Given the description of an element on the screen output the (x, y) to click on. 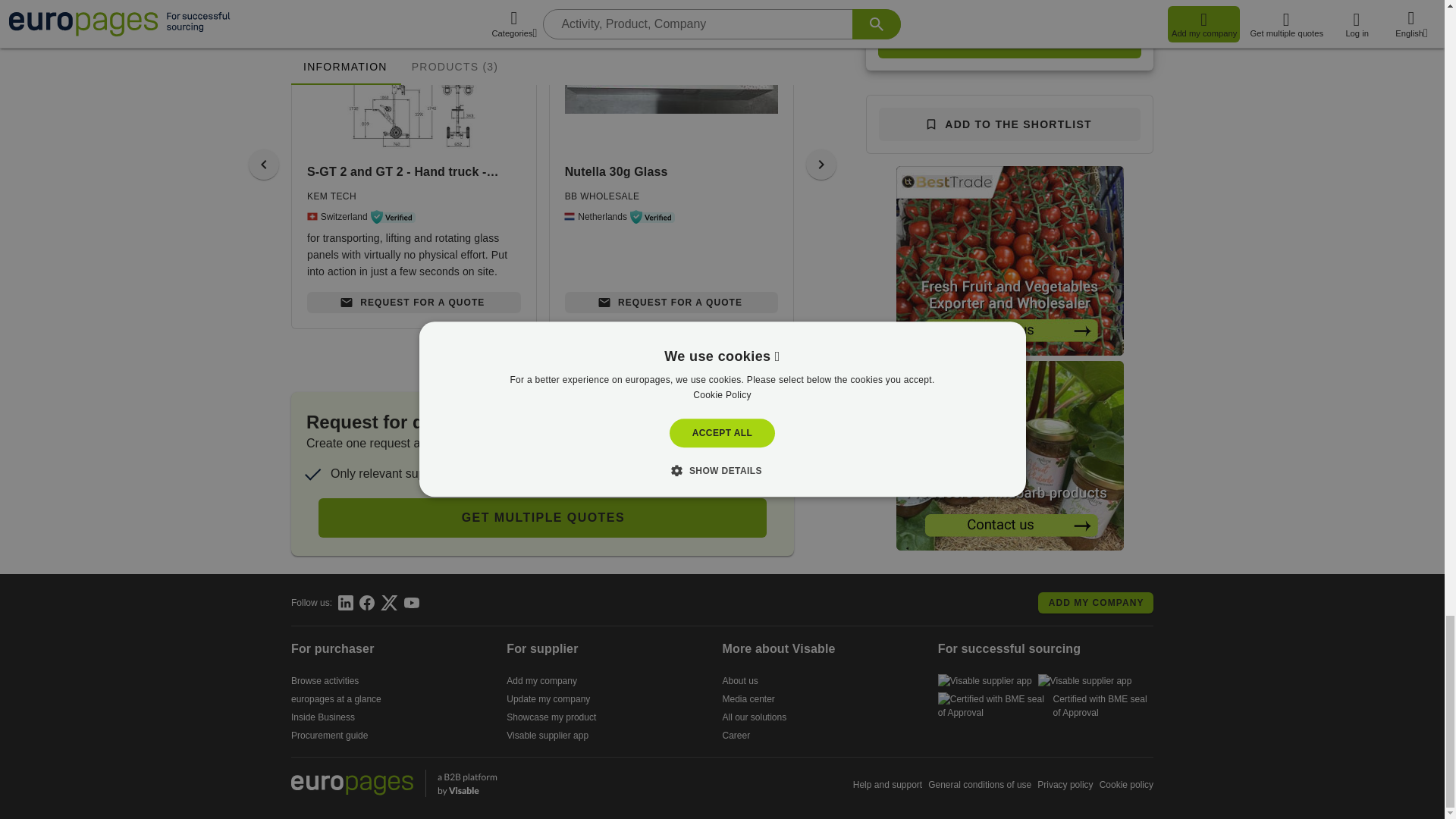
Inside Business (323, 716)
Add my company (541, 680)
All our solutions (754, 716)
europages at a glance (336, 698)
Twitter - europages (388, 602)
Linkedin - europages (345, 602)
Facebook - europages (366, 602)
Media center (748, 698)
Visable supplier app (1085, 680)
Visable supplier app (547, 735)
Add my company (1095, 602)
Visable supplier app (984, 680)
Certified with BME seal of Approval (1045, 705)
Browse activities (324, 680)
Procurement guide (329, 735)
